Given the description of an element on the screen output the (x, y) to click on. 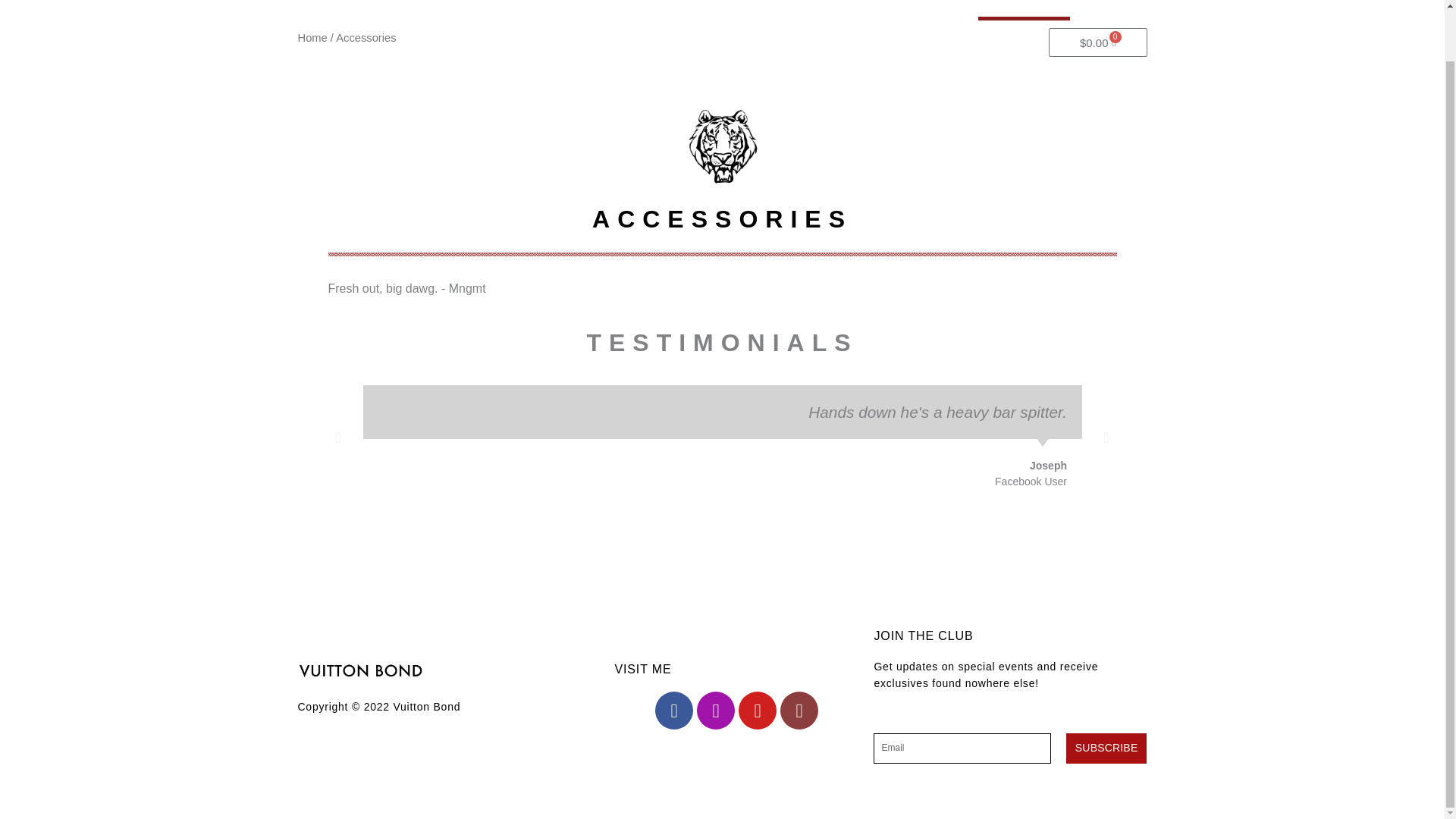
Apparel (883, 10)
My Account (1229, 10)
Storefront (808, 10)
Home (311, 37)
Music (948, 10)
SUBSCRIBE (1106, 748)
Accessories (1024, 10)
